Given the description of an element on the screen output the (x, y) to click on. 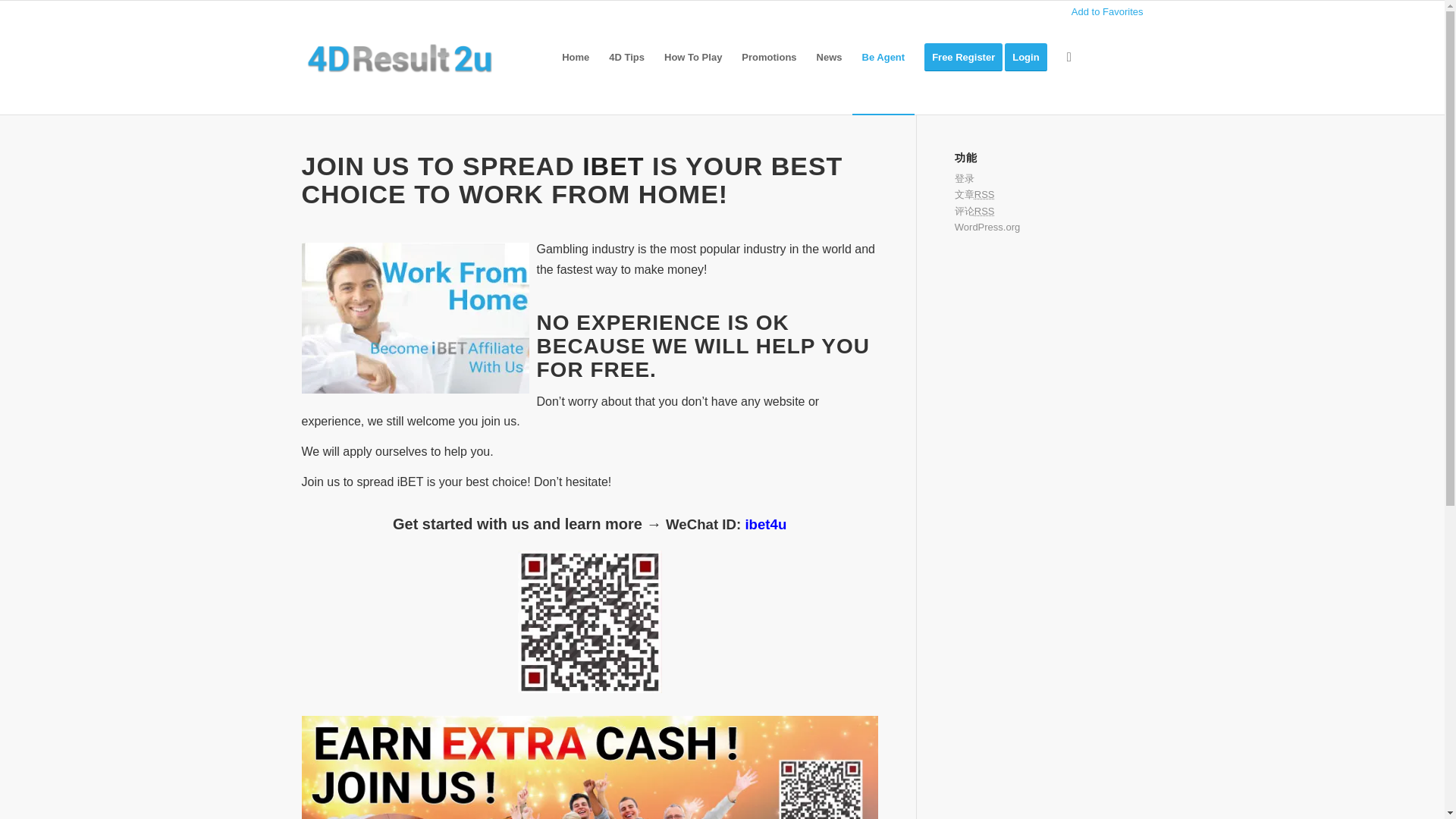
Really Simple Syndication (984, 194)
Really Simple Syndication (984, 211)
WordPress.org (987, 226)
Add to Favorites (1106, 11)
